Given the description of an element on the screen output the (x, y) to click on. 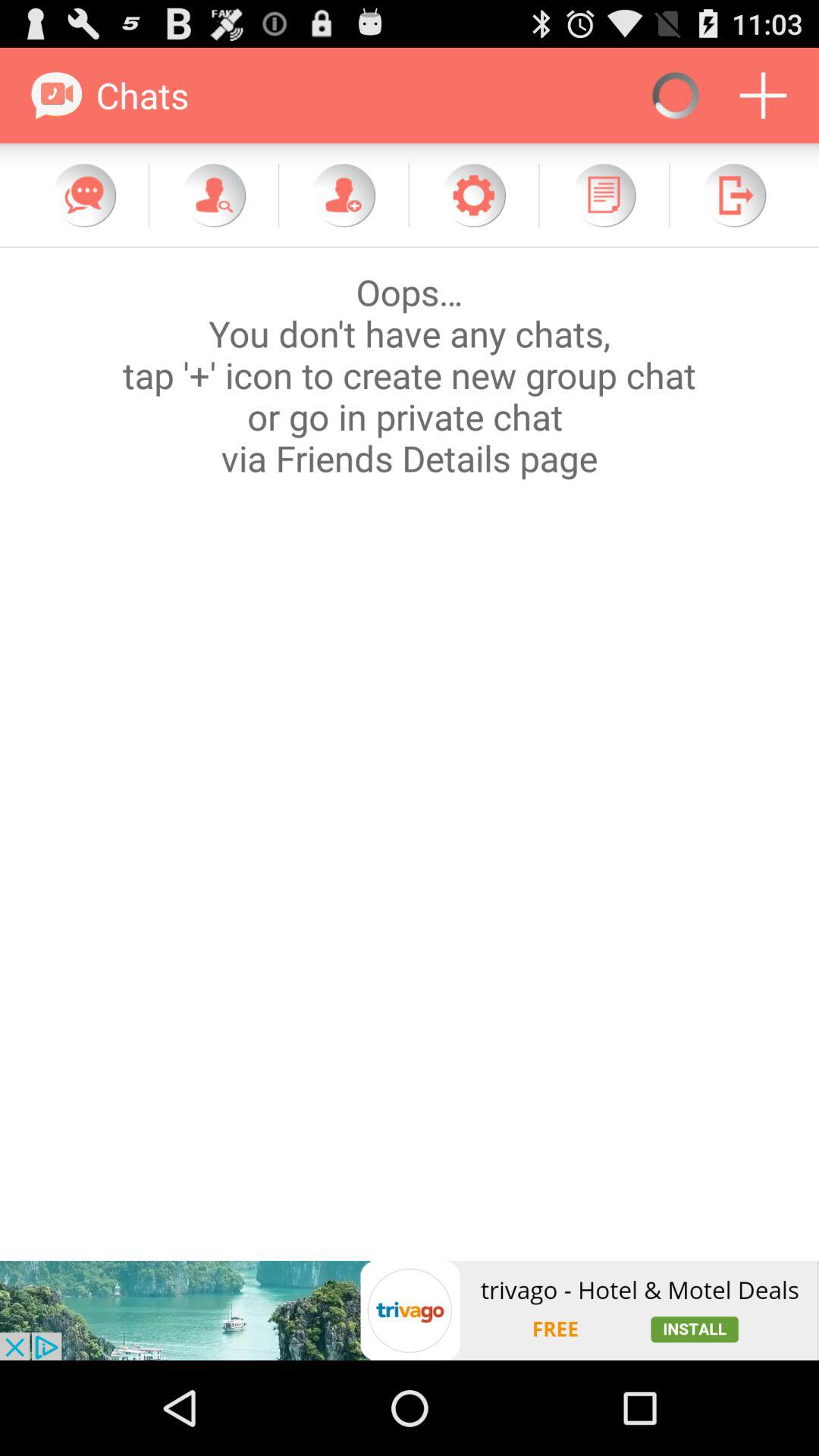
go to settings (473, 194)
